Given the description of an element on the screen output the (x, y) to click on. 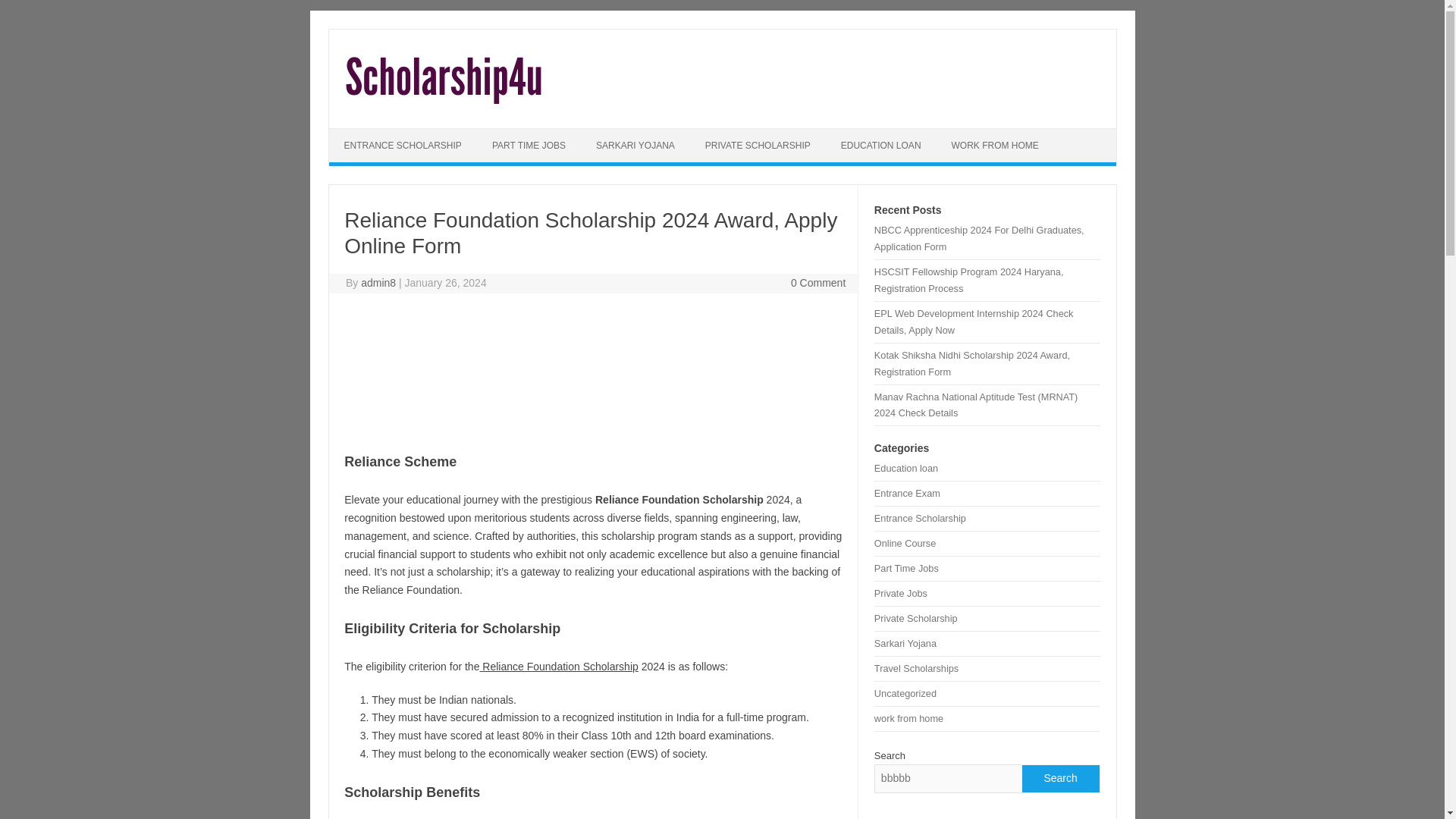
Uncategorized (905, 693)
Travel Scholarships (916, 668)
Part Time Jobs (907, 568)
Search (1059, 778)
Private Jobs (901, 593)
work from home (909, 717)
HSCSIT Fellowship Program 2024 Haryana, Registration Process (969, 280)
Entrance Exam (907, 492)
